Given the description of an element on the screen output the (x, y) to click on. 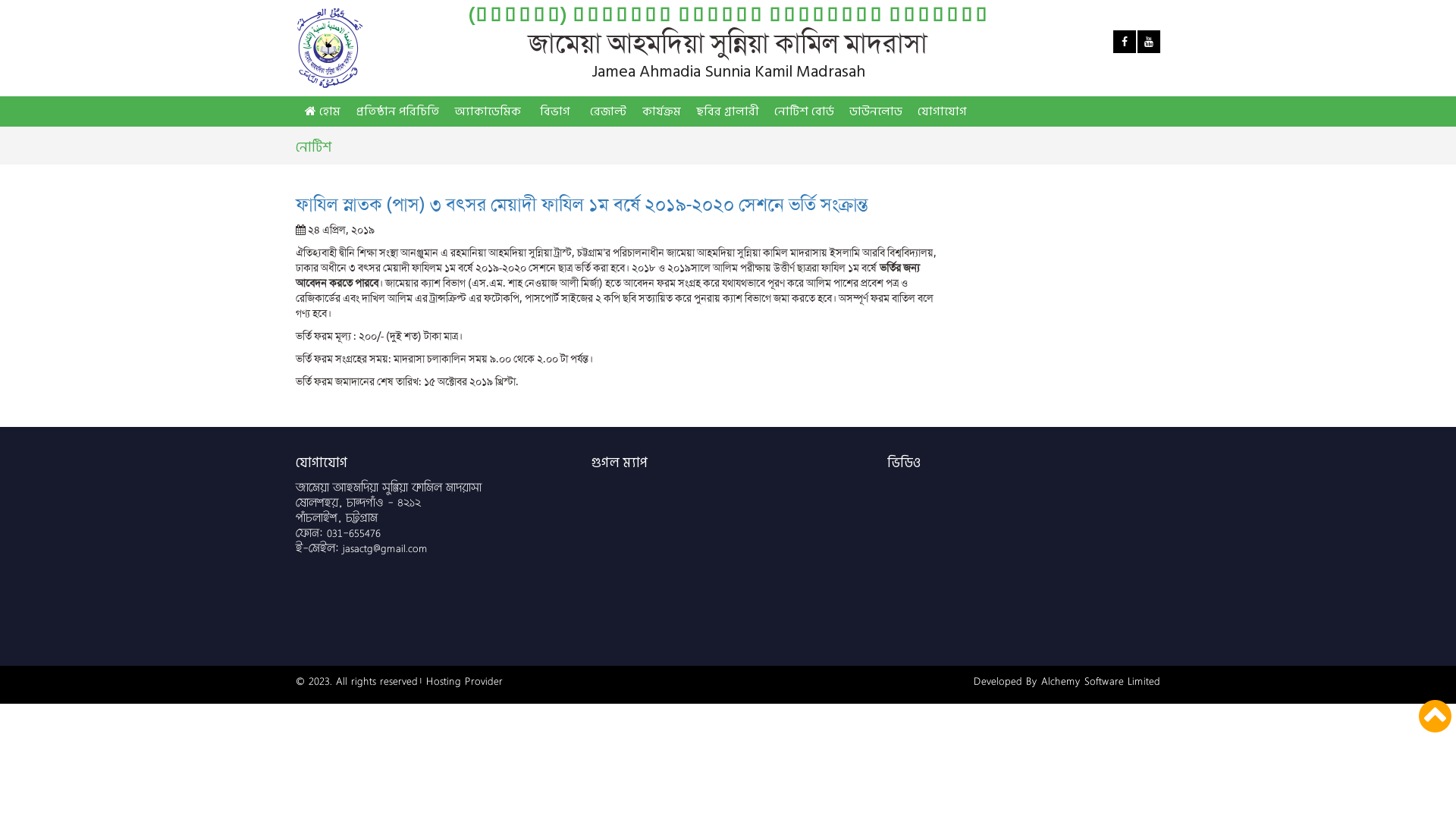
Hosting Provider Element type: text (464, 680)
Alchemy Software Limited Element type: text (1100, 680)
Go to top Element type: hover (1434, 715)
